Given the description of an element on the screen output the (x, y) to click on. 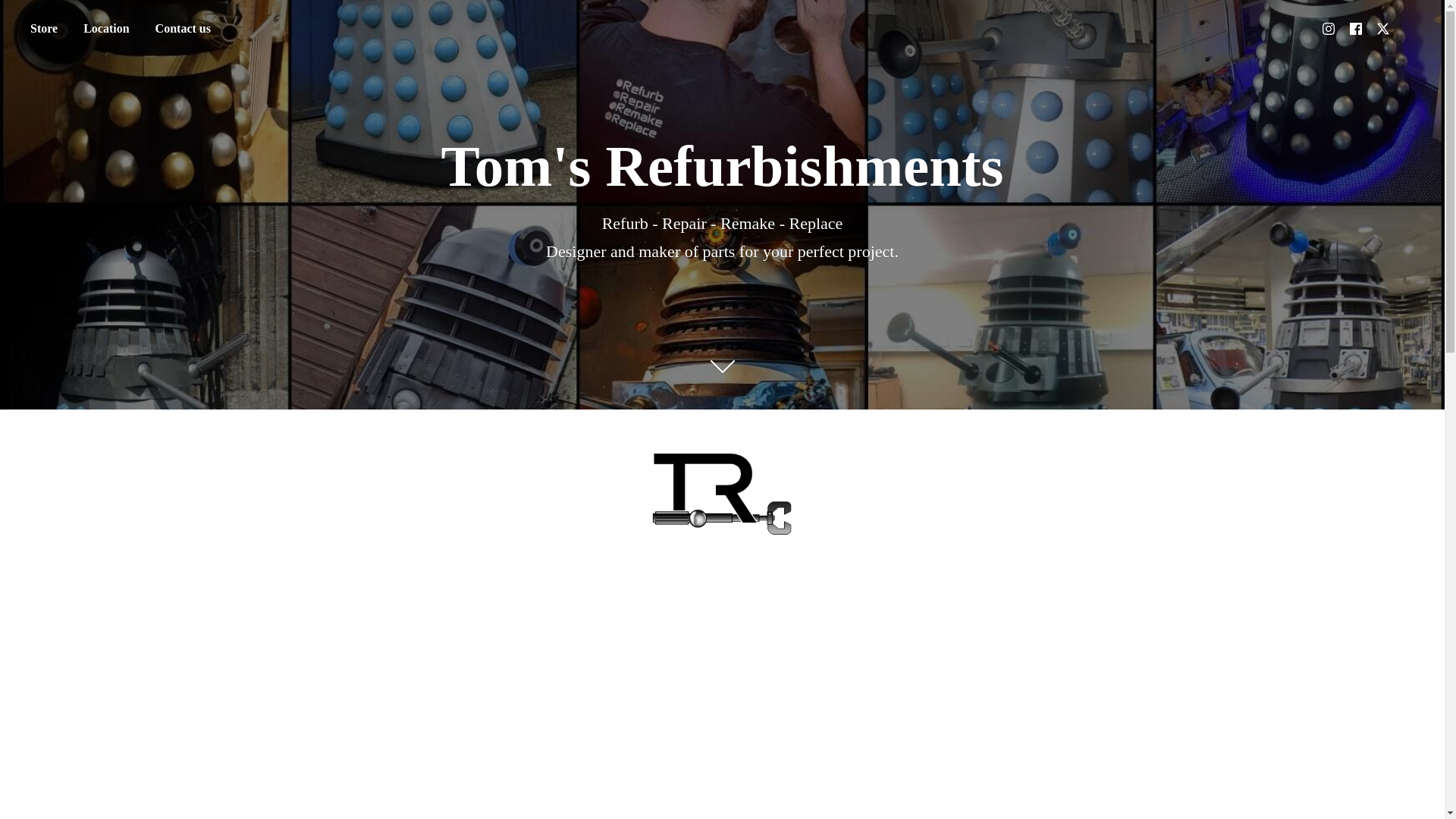
Store (43, 29)
Location (105, 29)
Contact us (183, 29)
